Given the description of an element on the screen output the (x, y) to click on. 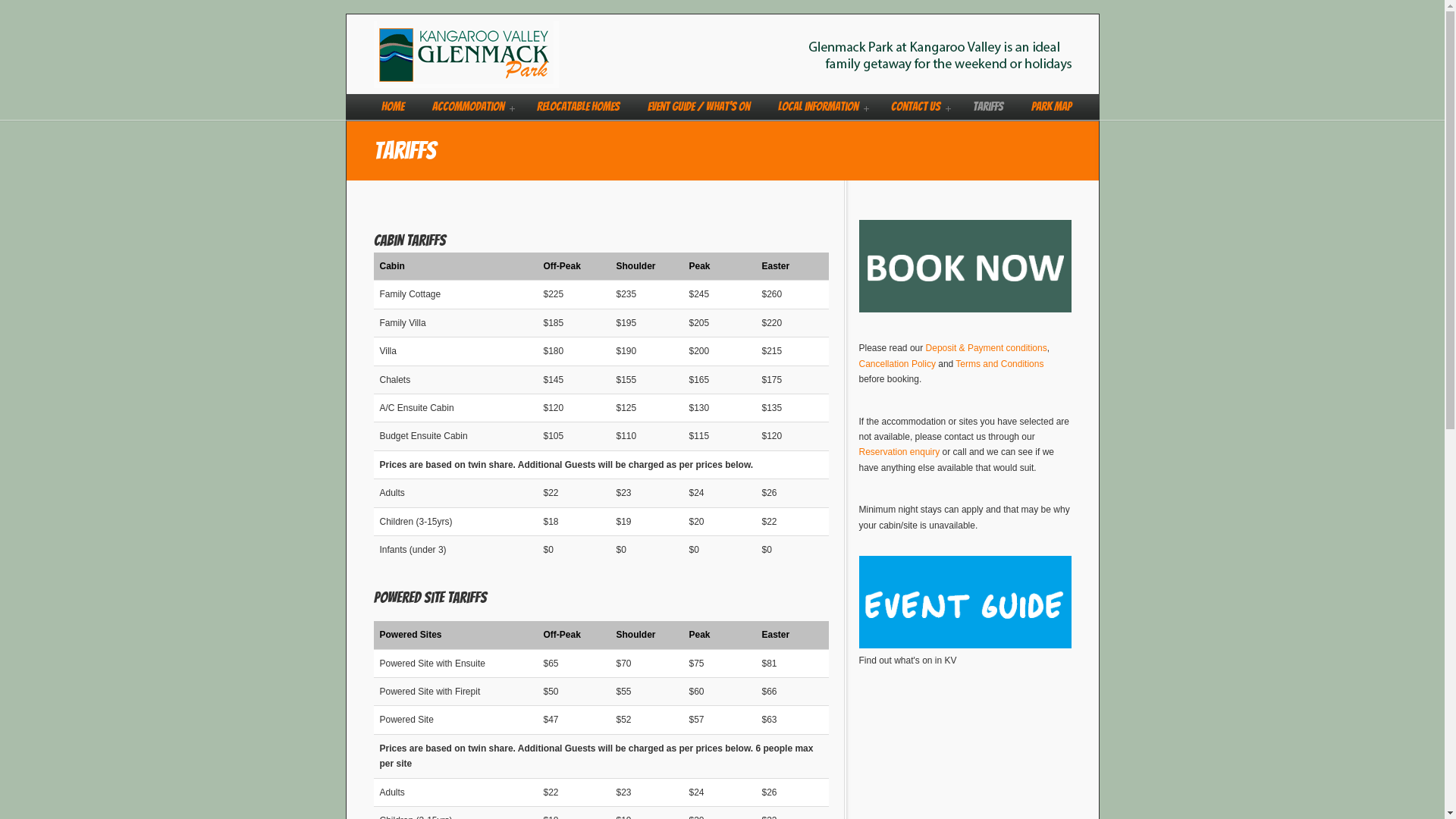
Park Map Element type: text (1051, 106)
Accommodation Element type: text (470, 106)
Home Element type: text (391, 106)
Relocatable Homes Element type: text (577, 106)
Cancellation Policy Element type: text (898, 363)
Local Information Element type: text (820, 106)
Terms and Conditions Element type: text (999, 363)
Contact us Element type: text (917, 106)
Tariffs Element type: text (987, 106)
Deposit & Payment conditions Element type: text (986, 347)
Reservation enquiry Element type: text (898, 451)
